Given the description of an element on the screen output the (x, y) to click on. 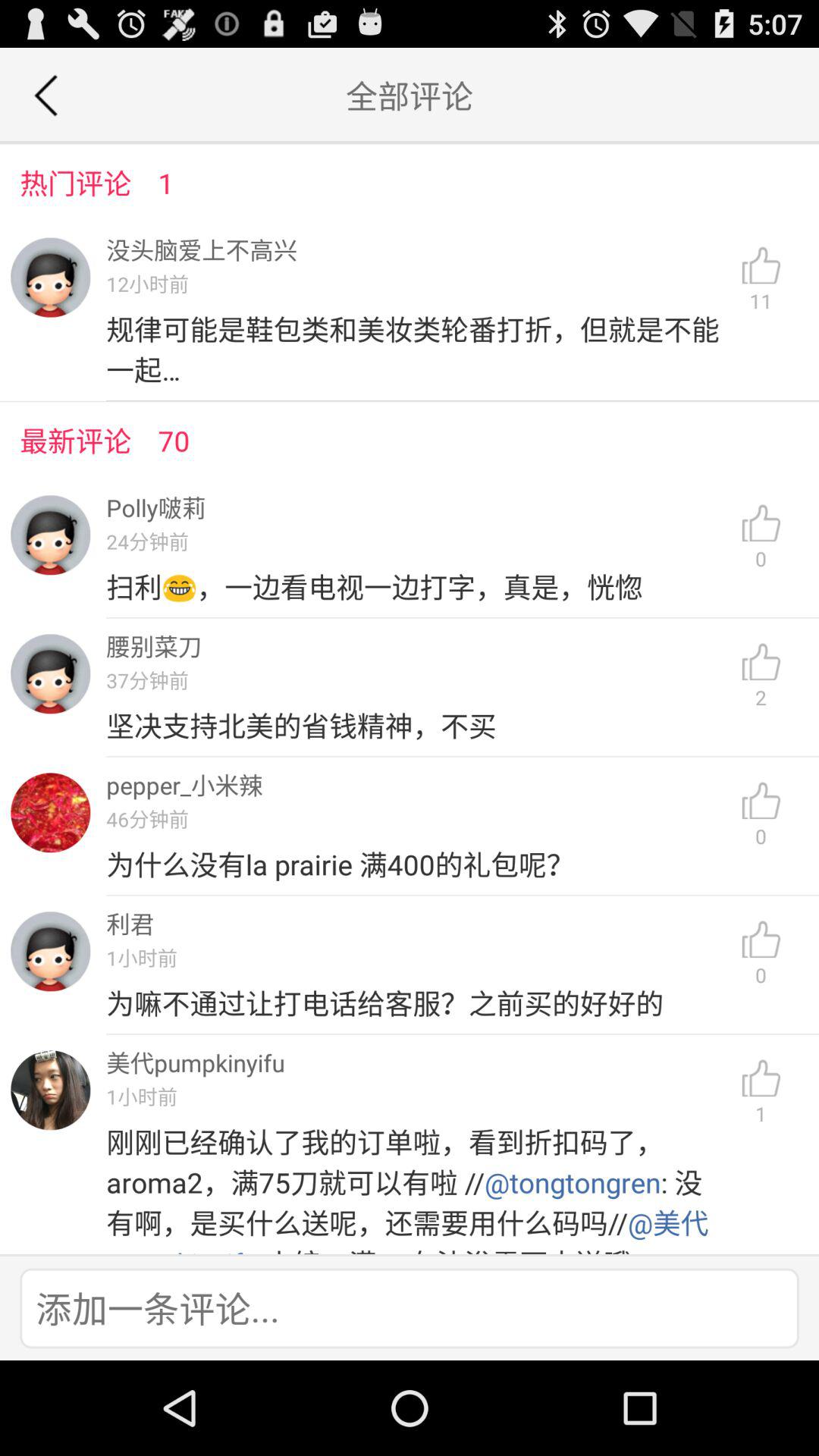
select the icon to the left of the 0 item (417, 1003)
